Given the description of an element on the screen output the (x, y) to click on. 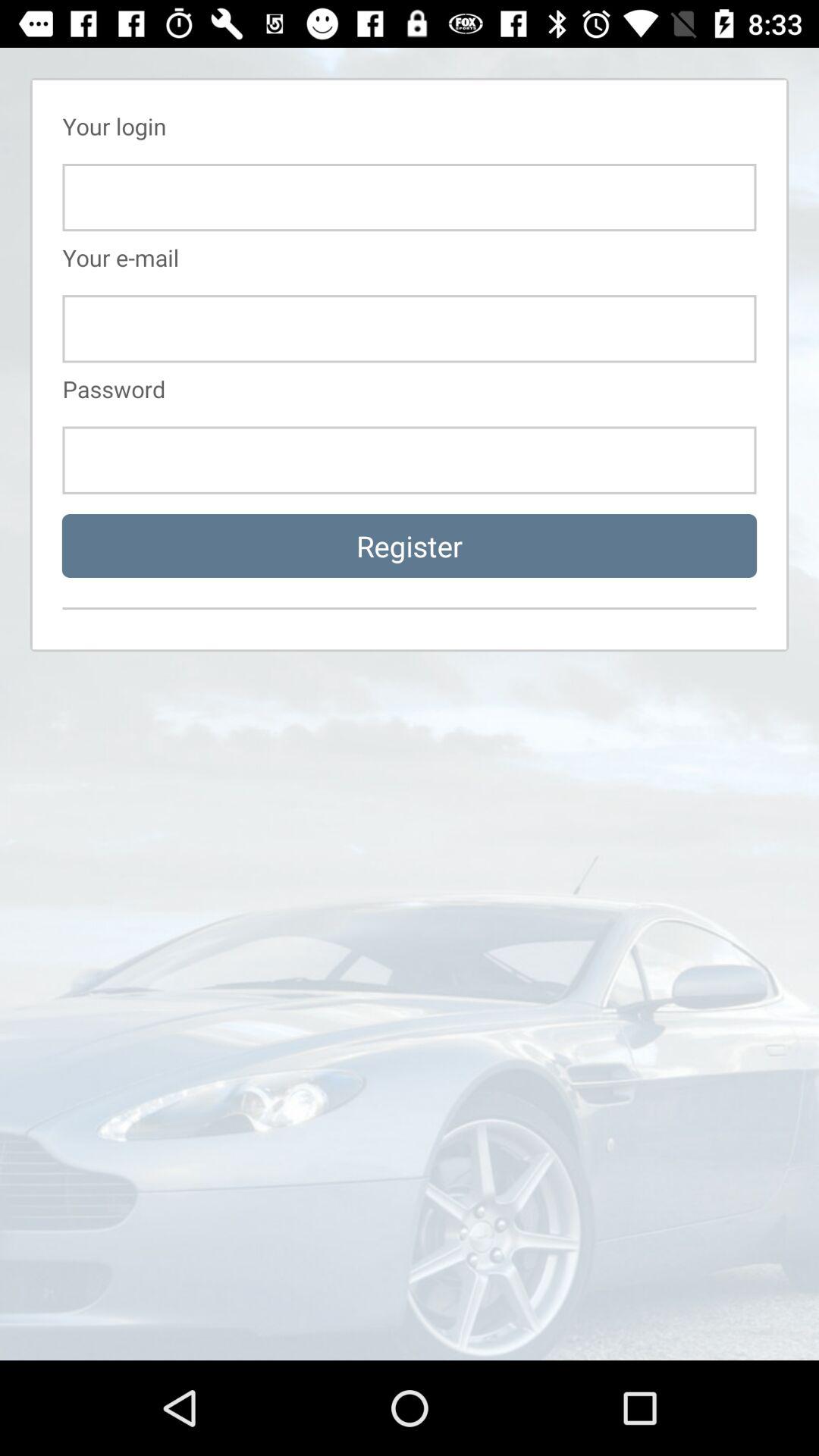
login page (409, 328)
